Given the description of an element on the screen output the (x, y) to click on. 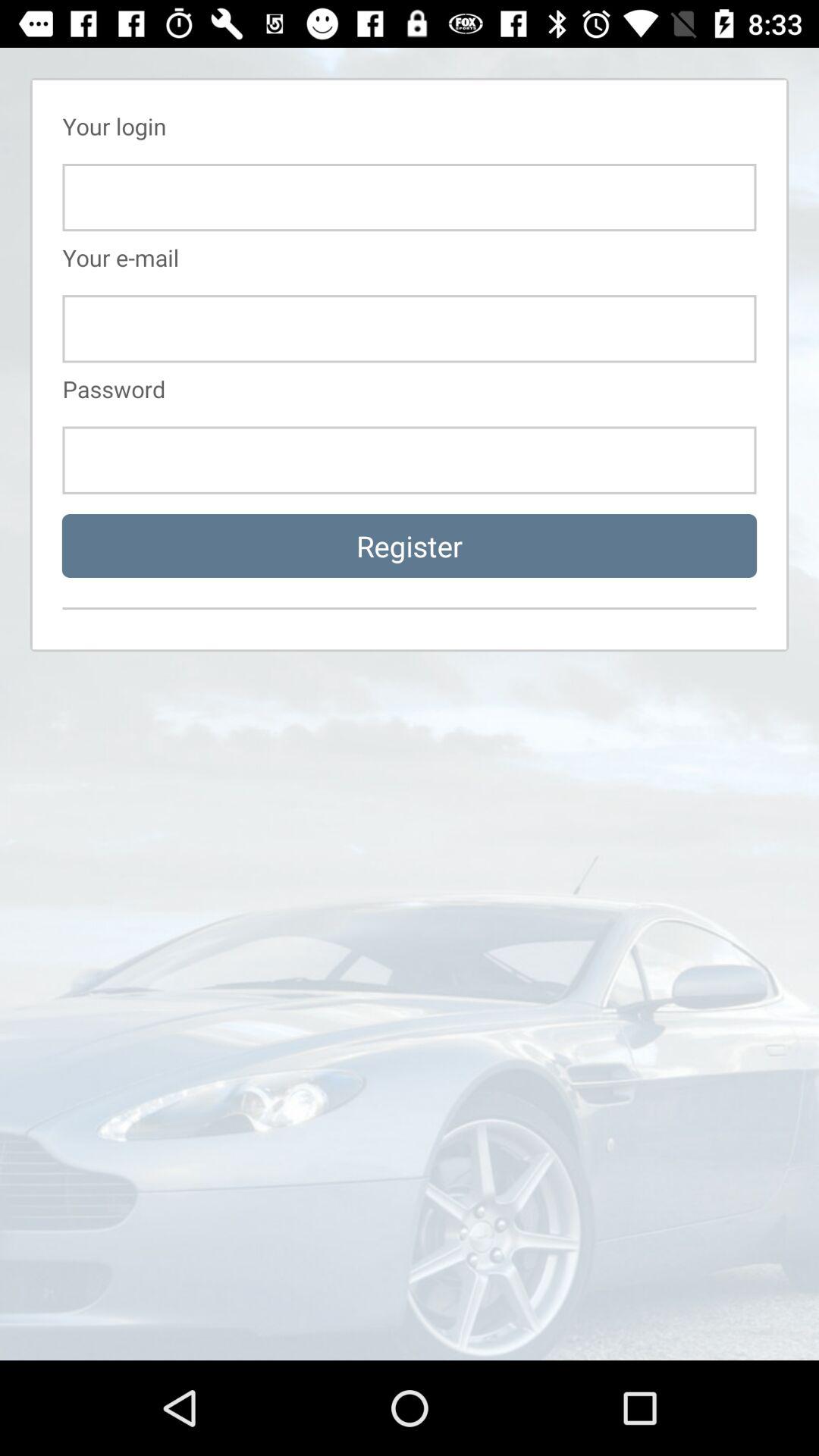
login page (409, 328)
